Given the description of an element on the screen output the (x, y) to click on. 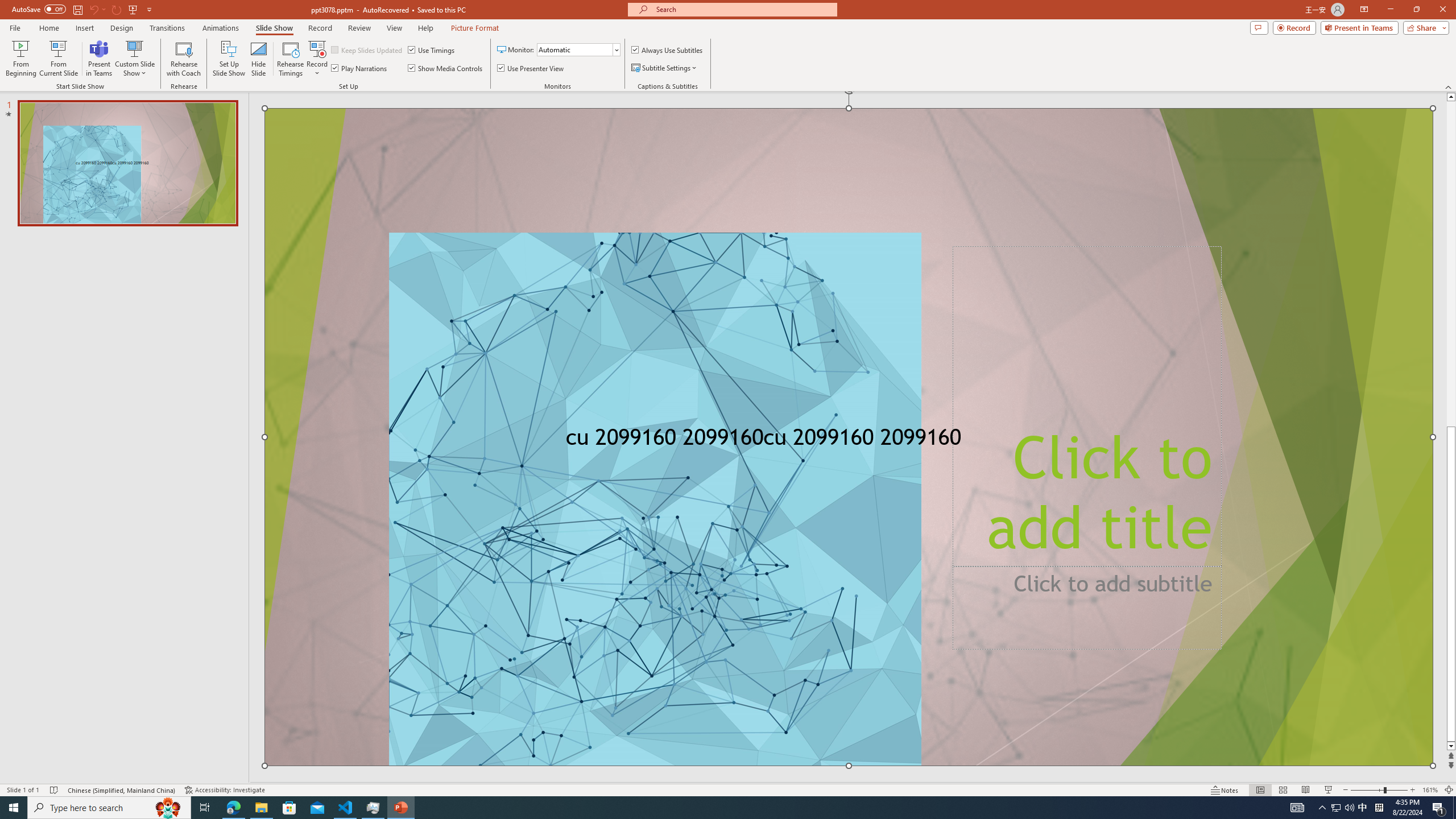
Custom Slide Show (134, 58)
Subtitle Settings (664, 67)
Use Presenter View (531, 67)
